Given the description of an element on the screen output the (x, y) to click on. 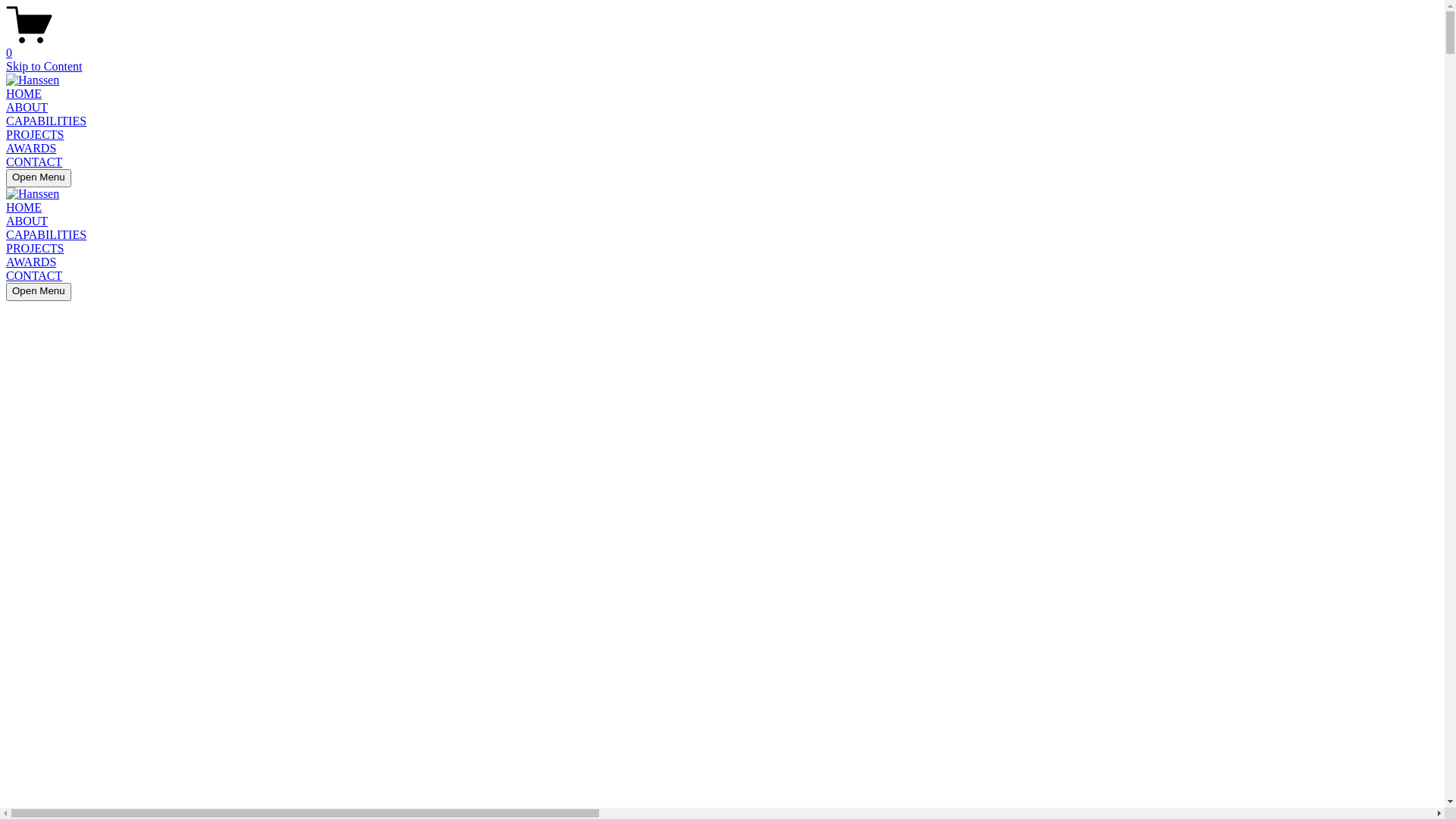
ABOUT Element type: text (26, 220)
CONTACT Element type: text (34, 275)
Open Menu Element type: text (38, 291)
AWARDS Element type: text (31, 261)
PROJECTS Element type: text (34, 134)
HOME Element type: text (23, 93)
AWARDS Element type: text (31, 147)
CONTACT Element type: text (34, 161)
ABOUT Element type: text (26, 106)
Skip to Content Element type: text (43, 65)
Open Menu Element type: text (38, 178)
CAPABILITIES Element type: text (46, 234)
0 Element type: text (722, 45)
PROJECTS Element type: text (34, 247)
HOME Element type: text (23, 206)
CAPABILITIES Element type: text (46, 120)
